Given the description of an element on the screen output the (x, y) to click on. 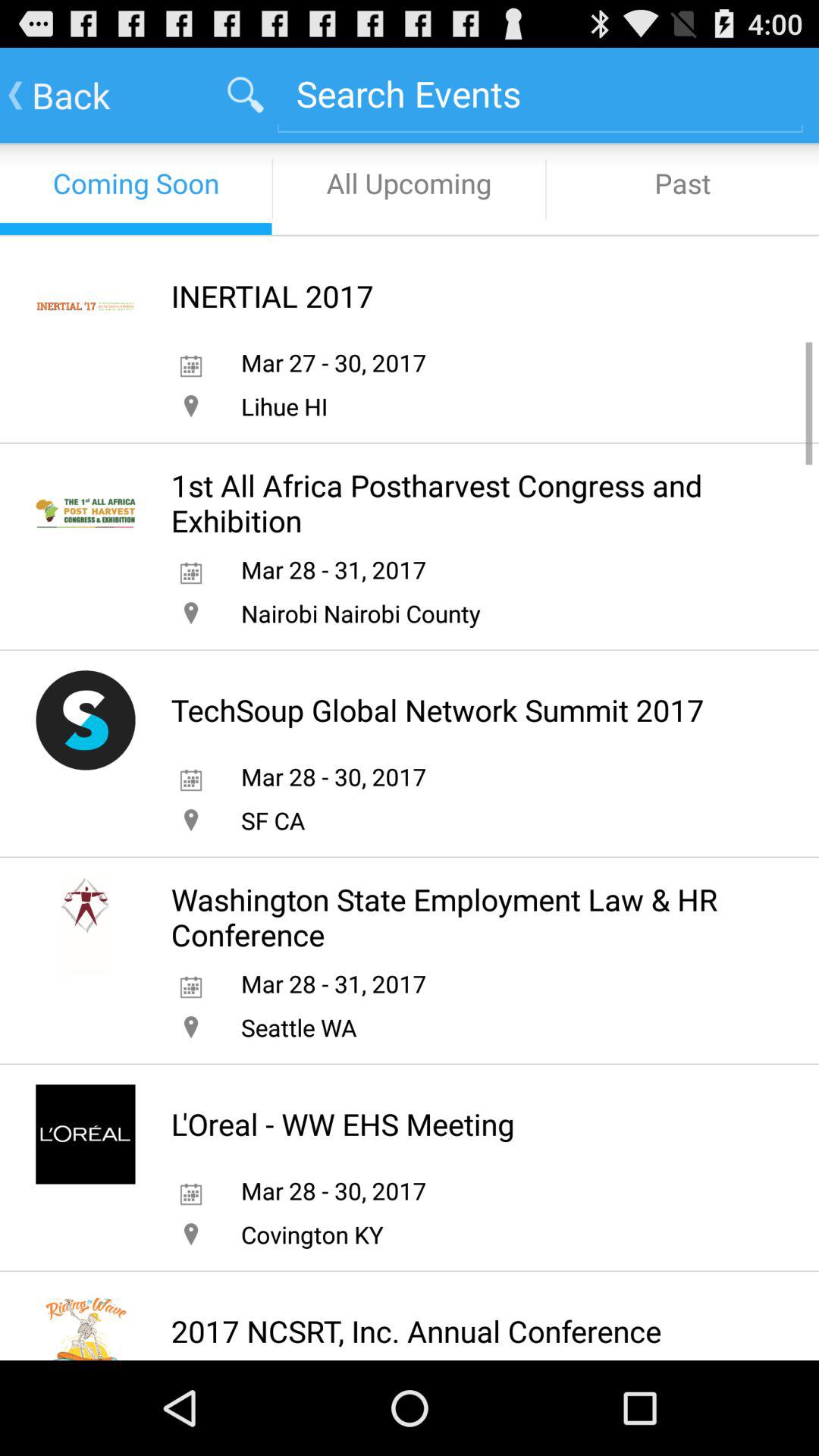
flip to the washington state employment (463, 916)
